Given the description of an element on the screen output the (x, y) to click on. 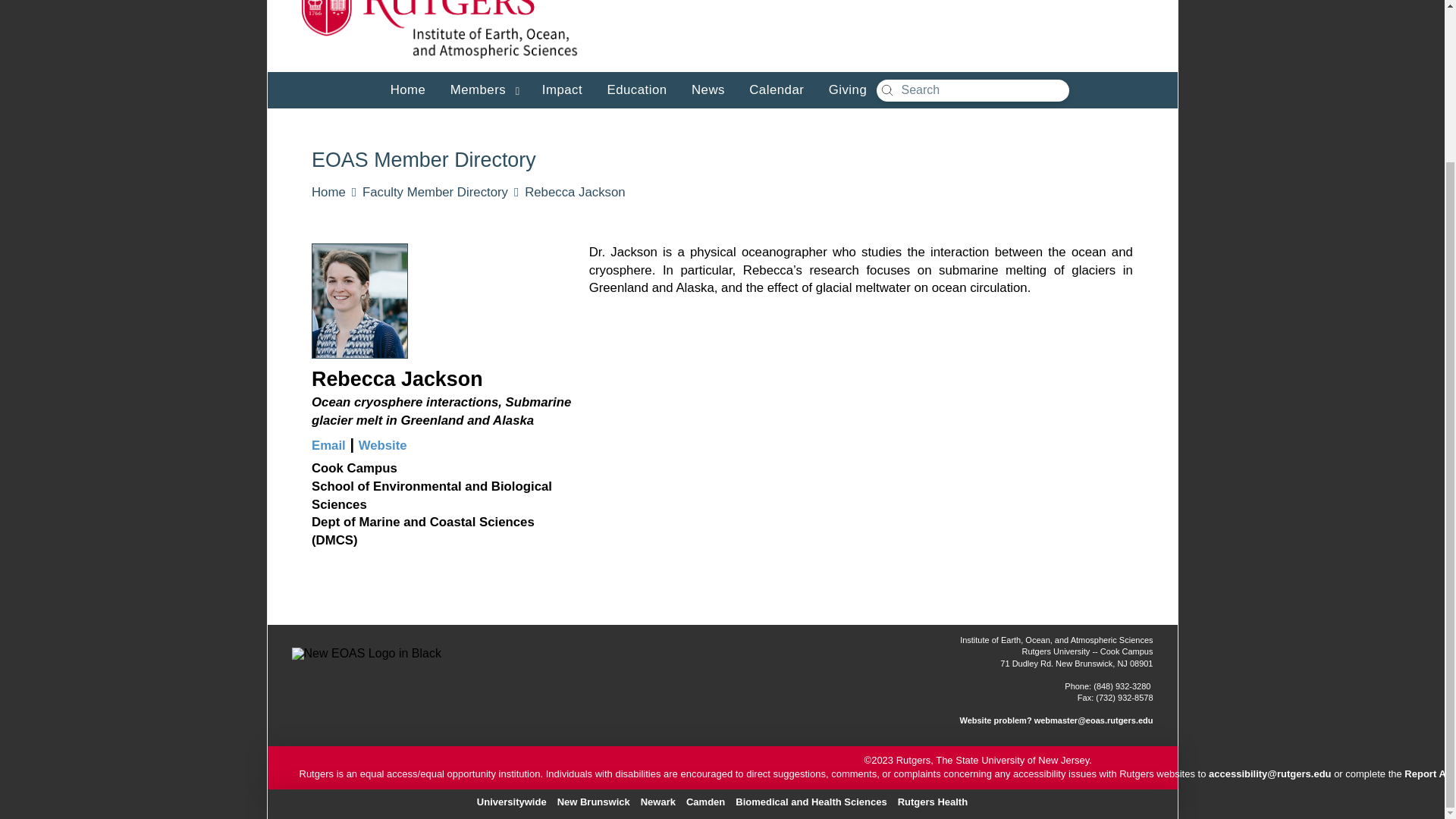
Rebecca Jackson (574, 192)
Camden (705, 799)
Website (382, 445)
Biomedical and Health Sciences (810, 799)
Impact (559, 88)
Calendar (772, 88)
Faculty Member Directory (435, 192)
Newark (657, 799)
Home (405, 88)
Members (481, 88)
Rutgers Health (932, 799)
Submit (886, 90)
Giving (844, 88)
Email (328, 445)
You Are Here (574, 192)
